Given the description of an element on the screen output the (x, y) to click on. 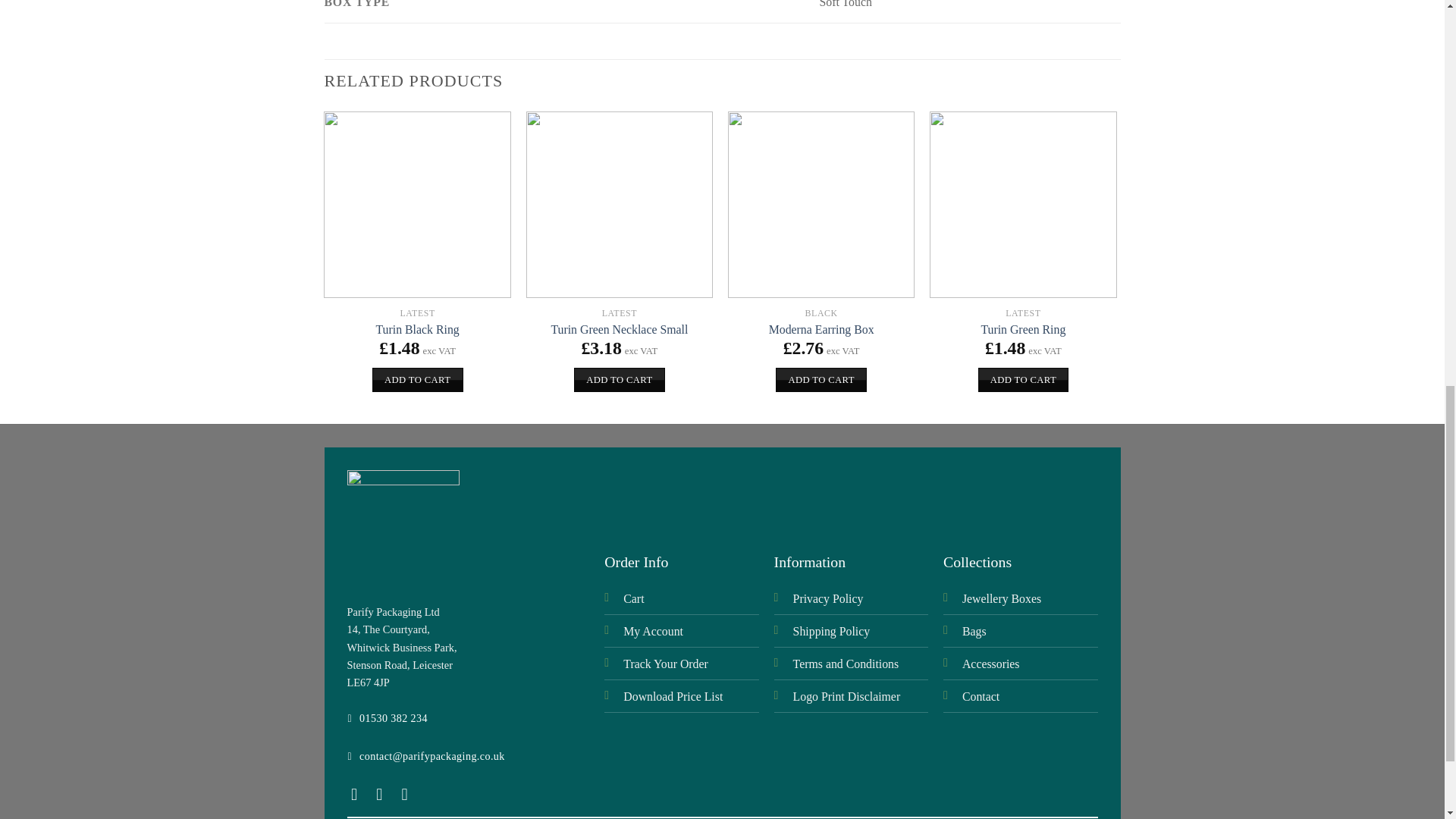
Minimum qty is 100 (1023, 379)
Minimum qty is 100 (821, 379)
Minimum qty is 100 (1225, 379)
Minimum qty is 100 (417, 379)
Minimum qty is 100 (619, 379)
